Given the description of an element on the screen output the (x, y) to click on. 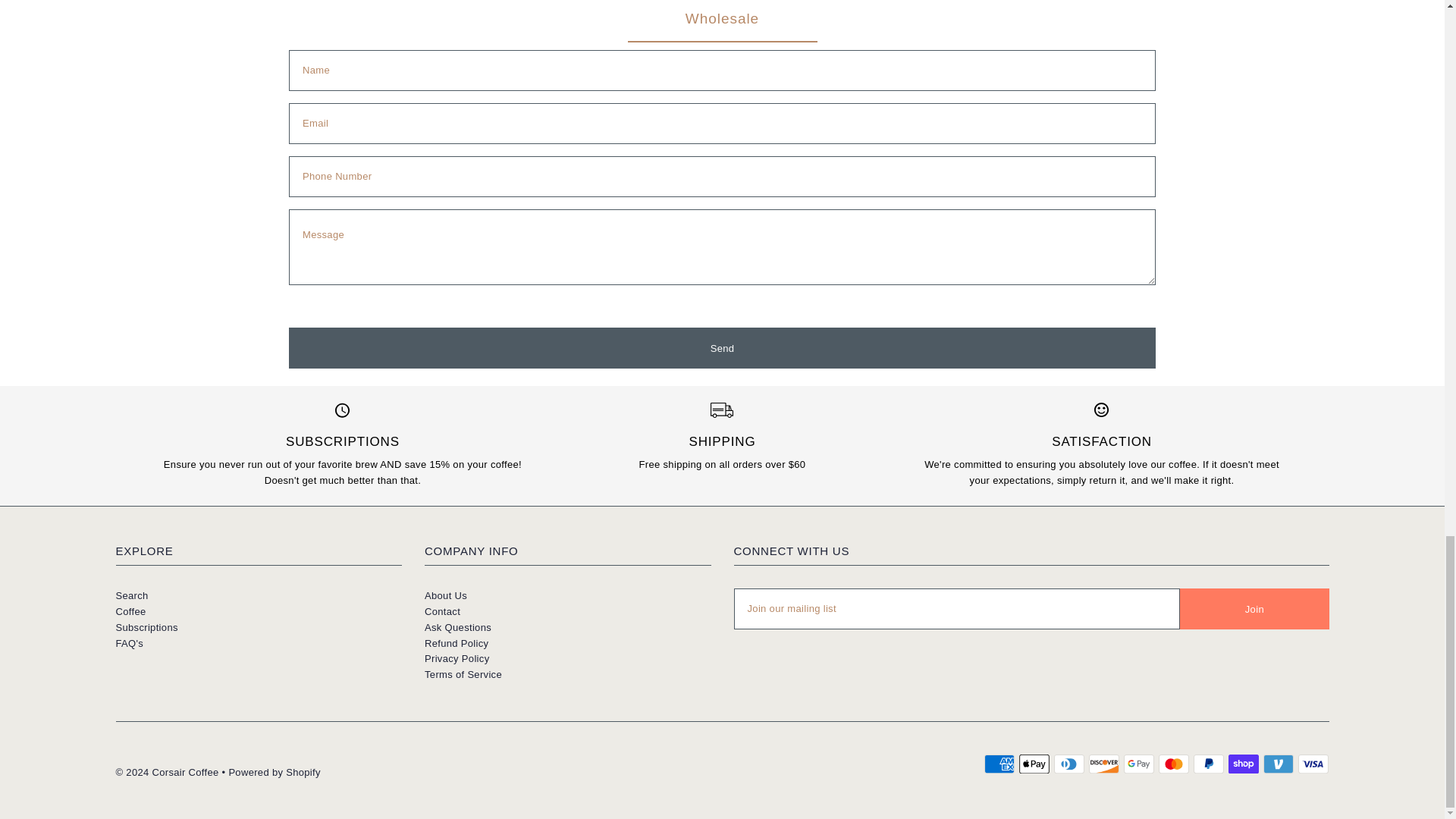
American Express (999, 763)
Diners Club (1069, 763)
Shop Pay (1243, 763)
Venmo (1278, 763)
Apple Pay (1034, 763)
Send (722, 347)
Join (1253, 608)
Visa (1312, 763)
Google Pay (1139, 763)
Discover (1104, 763)
Mastercard (1173, 763)
PayPal (1208, 763)
